Given the description of an element on the screen output the (x, y) to click on. 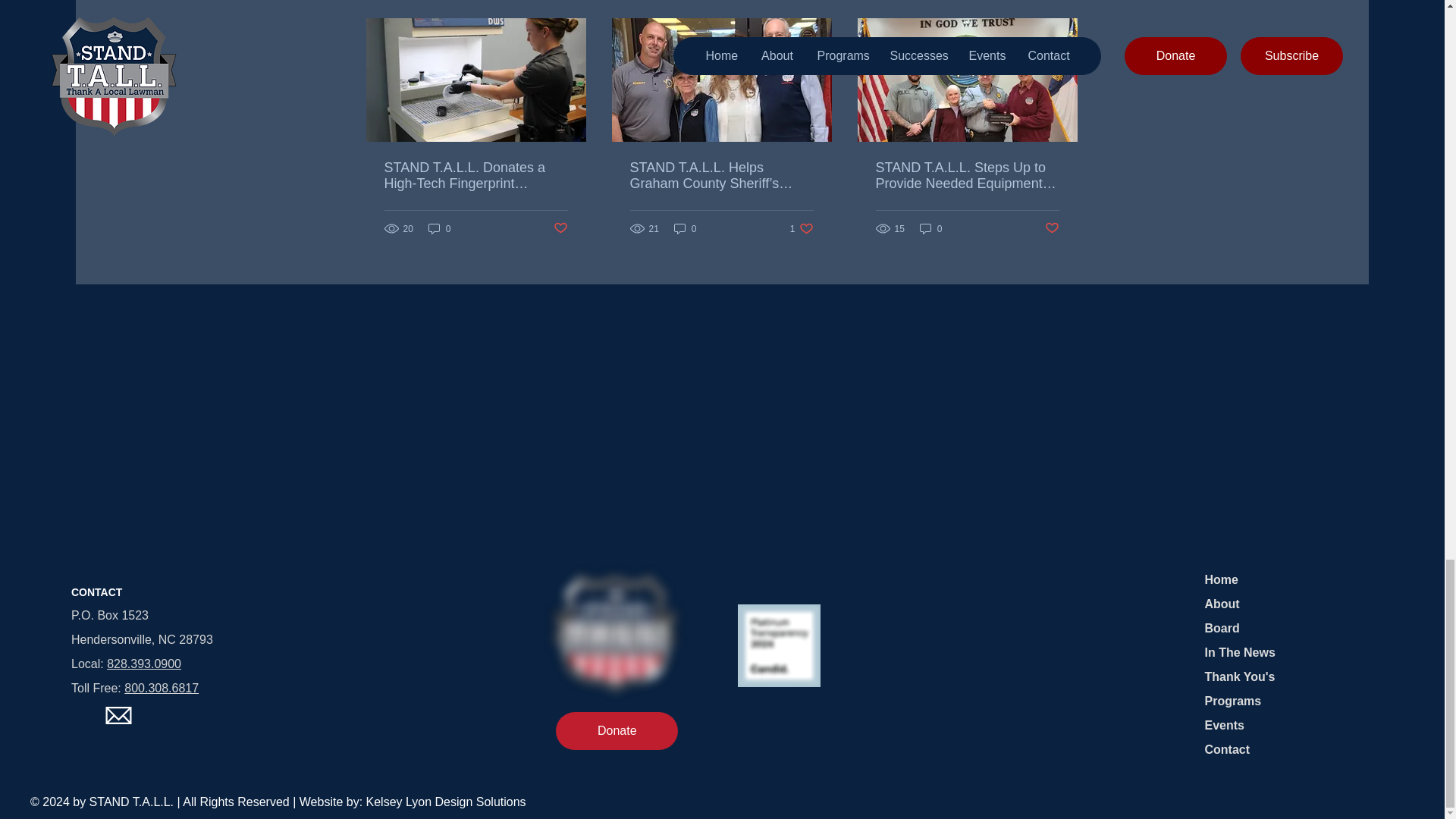
Post not marked as liked (560, 228)
Post not marked as liked (801, 228)
0 (1052, 228)
Board (439, 228)
Donate (1221, 627)
See All (617, 730)
0 (1061, 1)
In The News (930, 228)
